Given the description of an element on the screen output the (x, y) to click on. 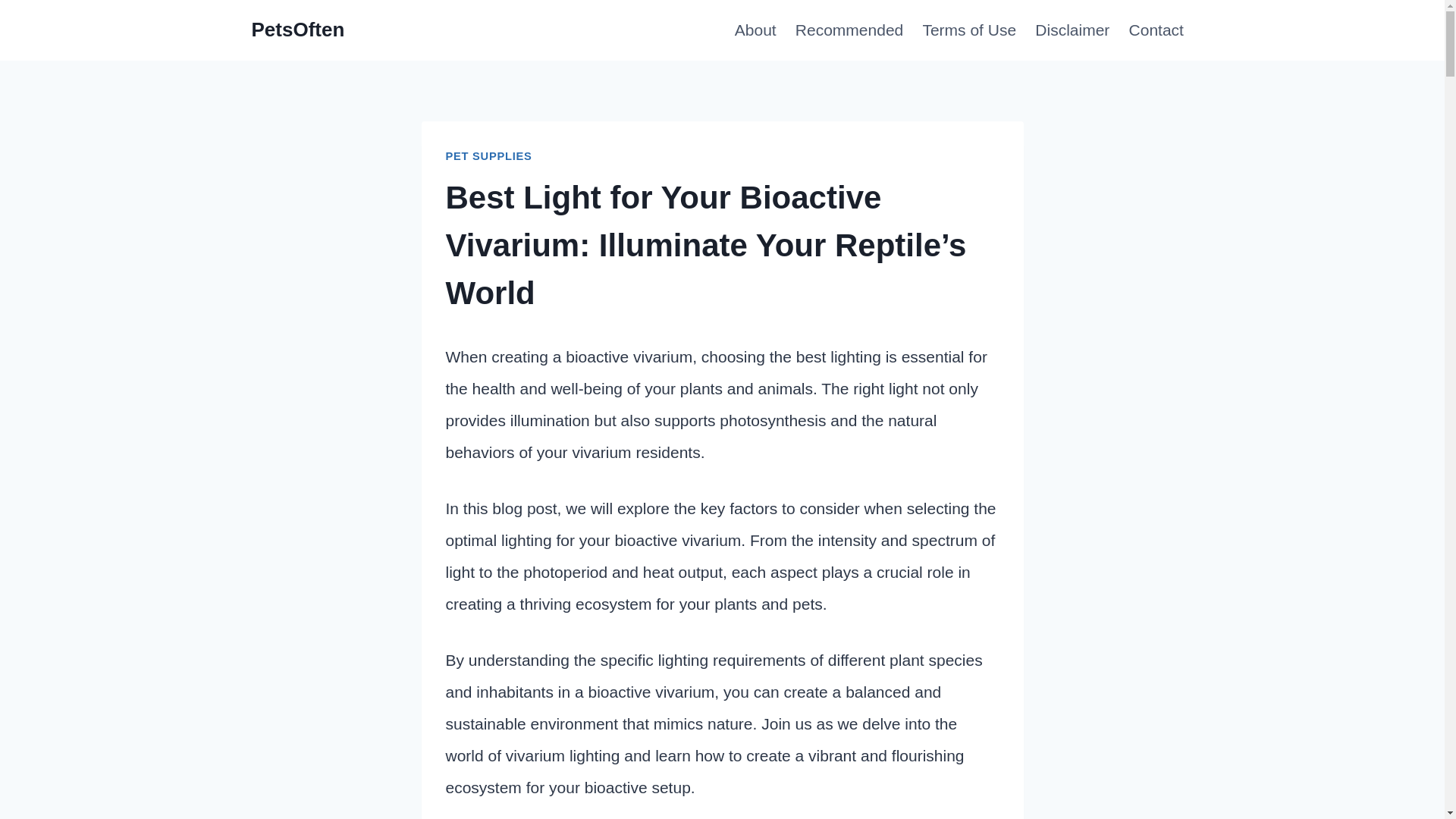
About (755, 29)
Terms of Use (969, 29)
PetsOften (298, 29)
Recommended (849, 29)
Contact (1156, 29)
PET SUPPLIES (488, 155)
Disclaimer (1072, 29)
